Given the description of an element on the screen output the (x, y) to click on. 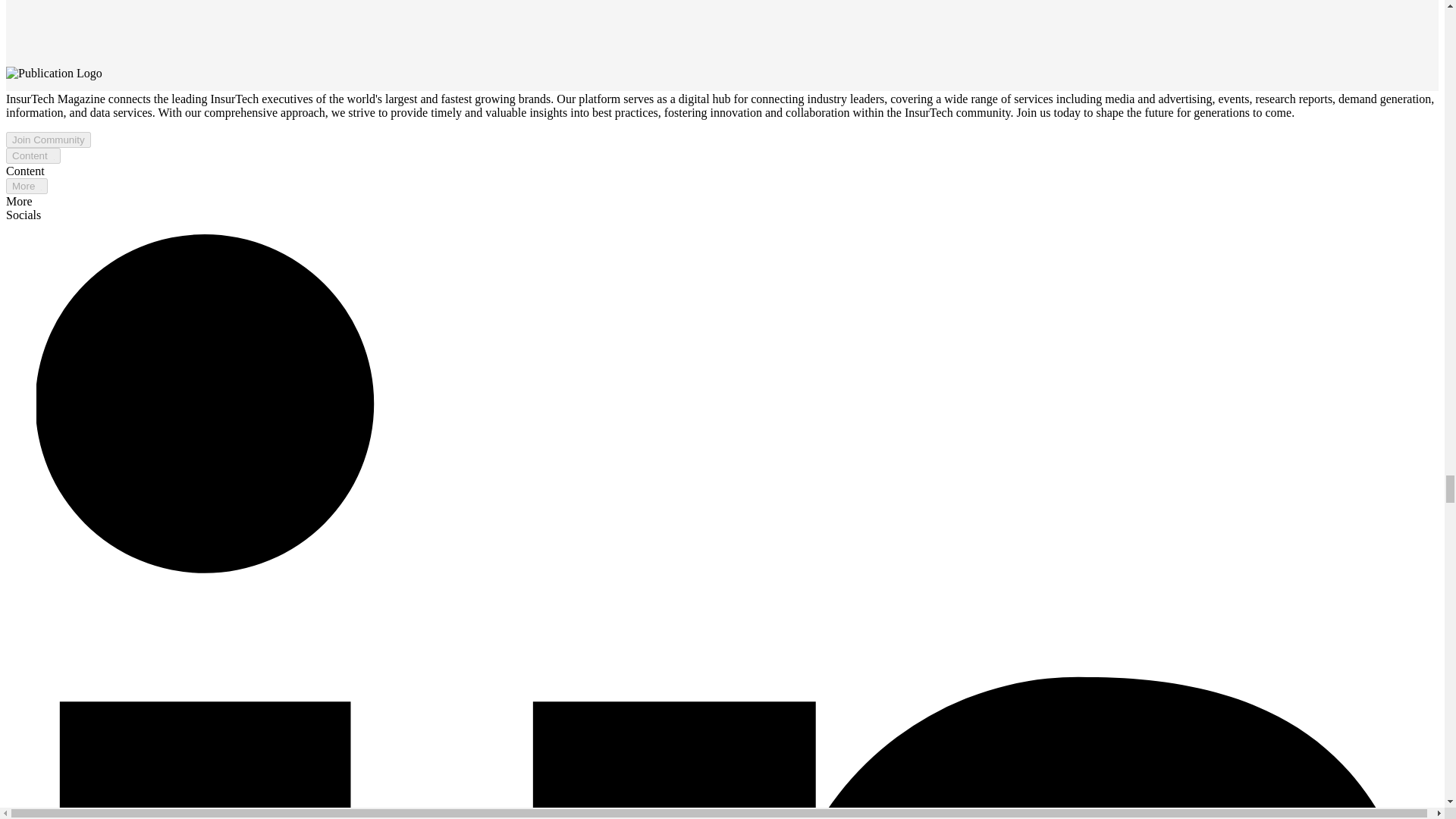
More (26, 186)
Content (33, 155)
Join Community (47, 139)
